Given the description of an element on the screen output the (x, y) to click on. 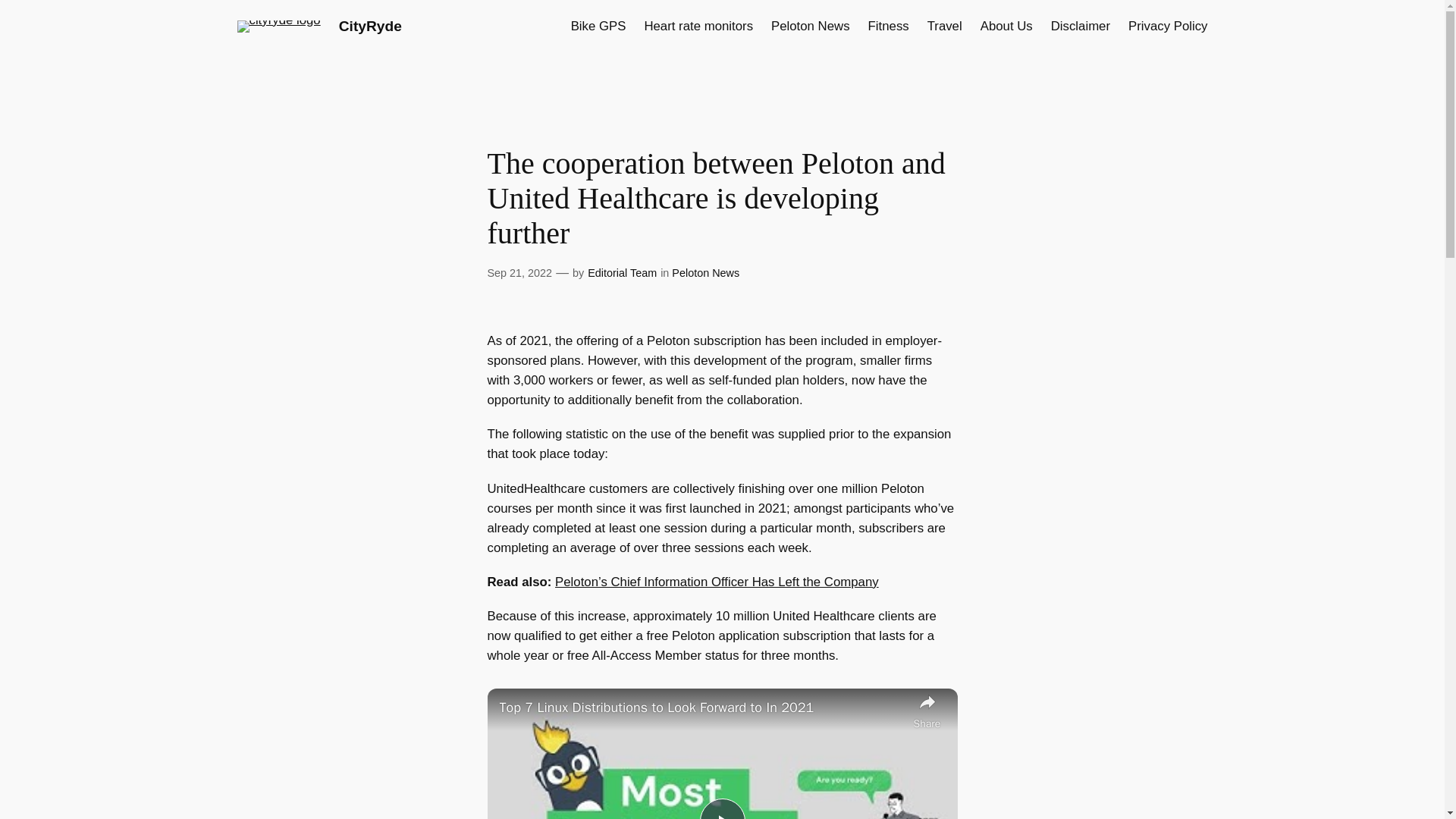
Heart rate monitors (697, 26)
Disclaimer (1080, 26)
Peloton News (810, 26)
Share (926, 710)
Travel (944, 26)
Bike GPS (598, 26)
Fitness (887, 26)
share (926, 710)
Editorial Team (622, 272)
Play Video (721, 808)
Sep 21, 2022 (518, 272)
Privacy Policy (1167, 26)
Top 7 Linux Distributions to Look Forward to In 2021 (702, 708)
About Us (1005, 26)
Play Video (721, 808)
